Given the description of an element on the screen output the (x, y) to click on. 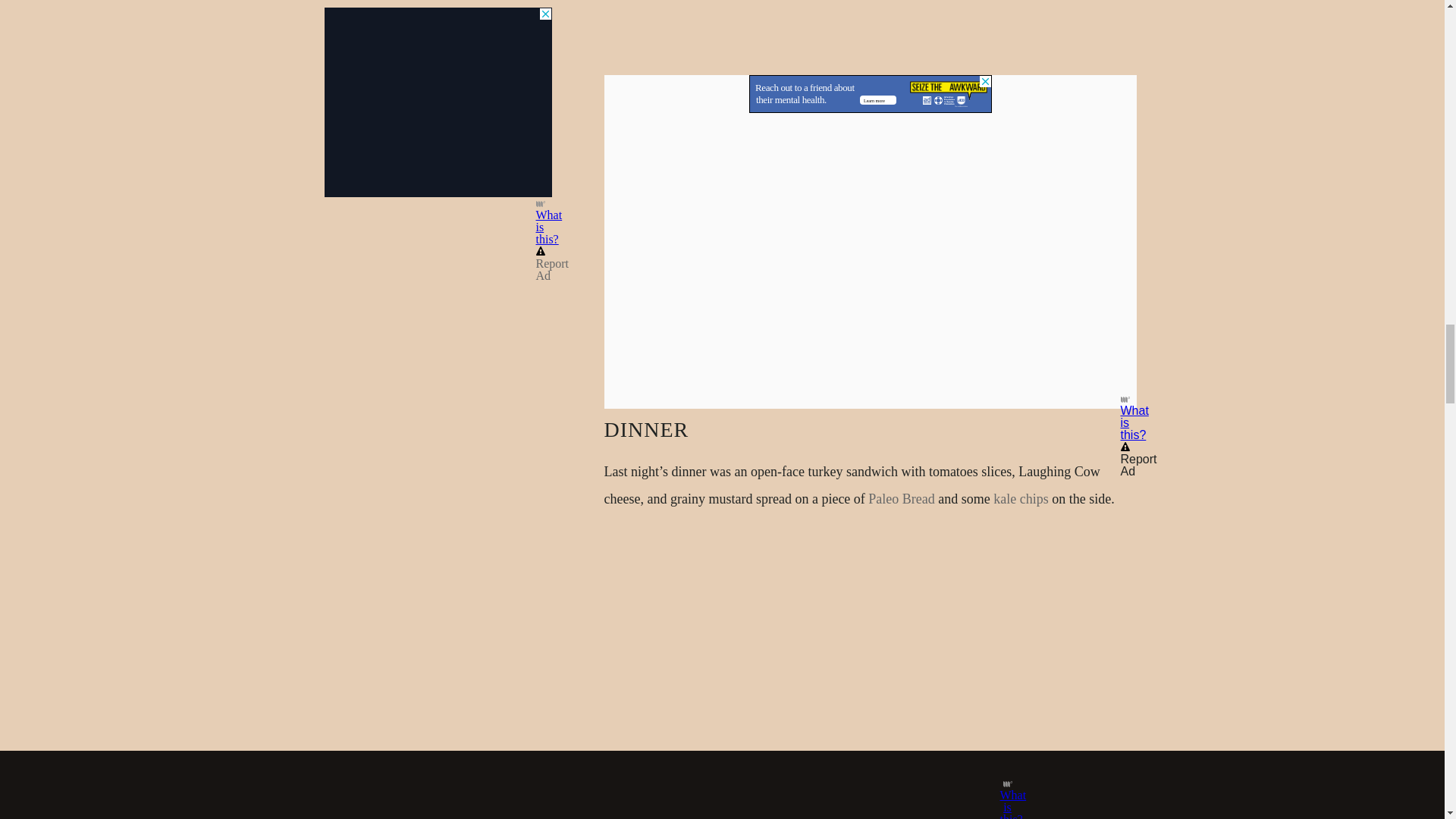
3rd party ad content (437, 11)
3rd party ad content (870, 94)
